Given the description of an element on the screen output the (x, y) to click on. 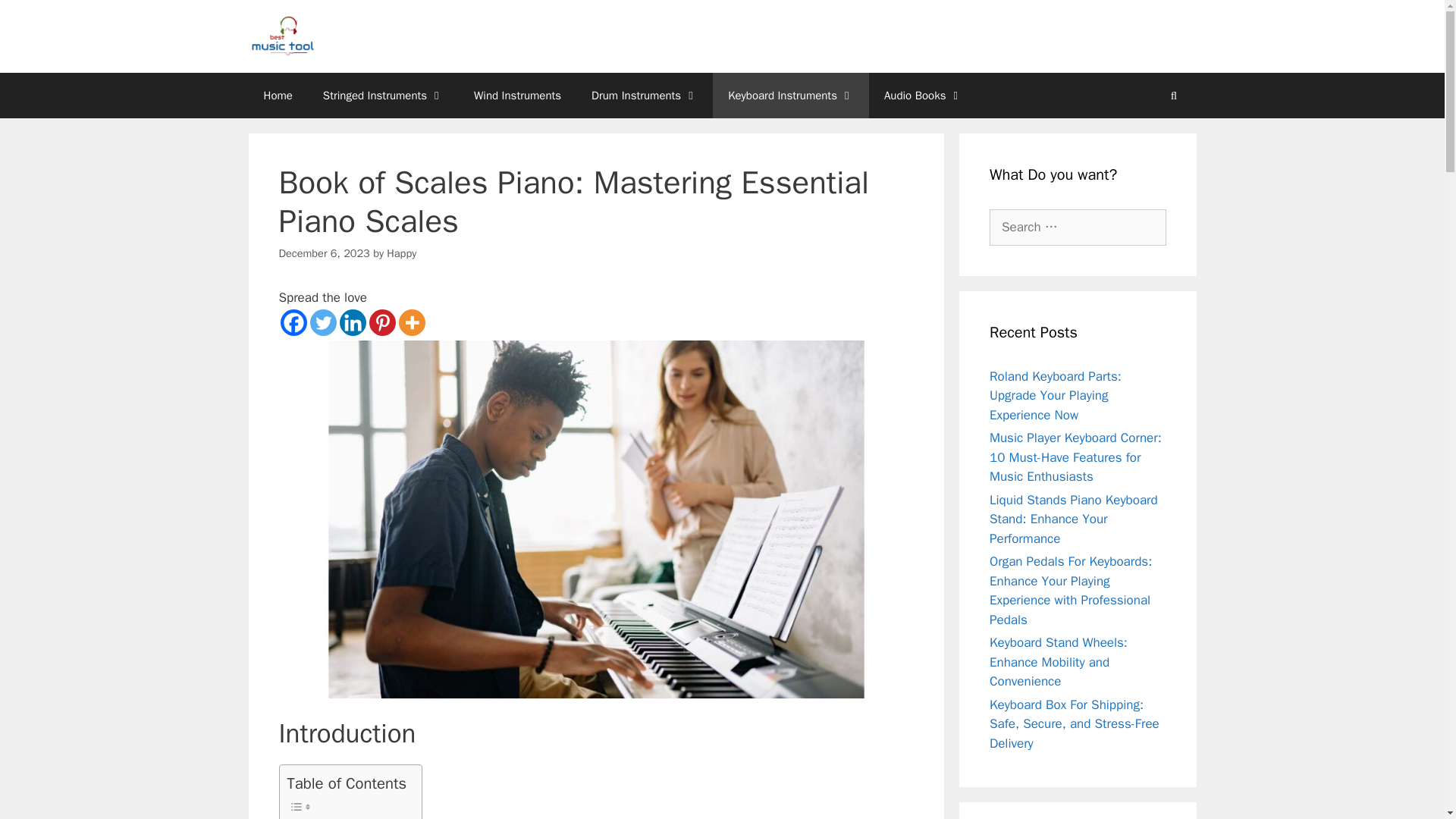
More (411, 322)
Twitter (322, 322)
Linkedin (352, 322)
Facebook (294, 322)
View all posts by Happy (401, 253)
Home (277, 94)
Pinterest (381, 322)
Stringed Instruments (382, 94)
